Given the description of an element on the screen output the (x, y) to click on. 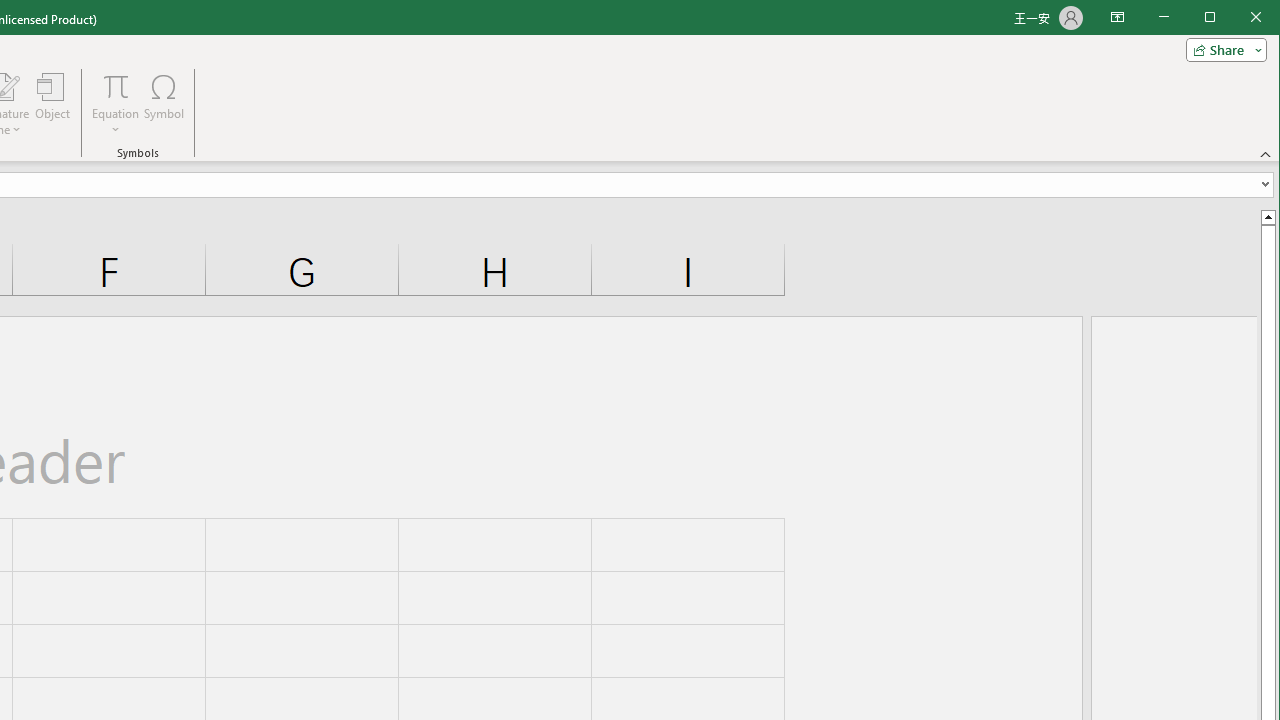
Maximize (1238, 18)
Symbol... (164, 104)
Equation (115, 104)
Object... (53, 104)
Equation (115, 86)
